Given the description of an element on the screen output the (x, y) to click on. 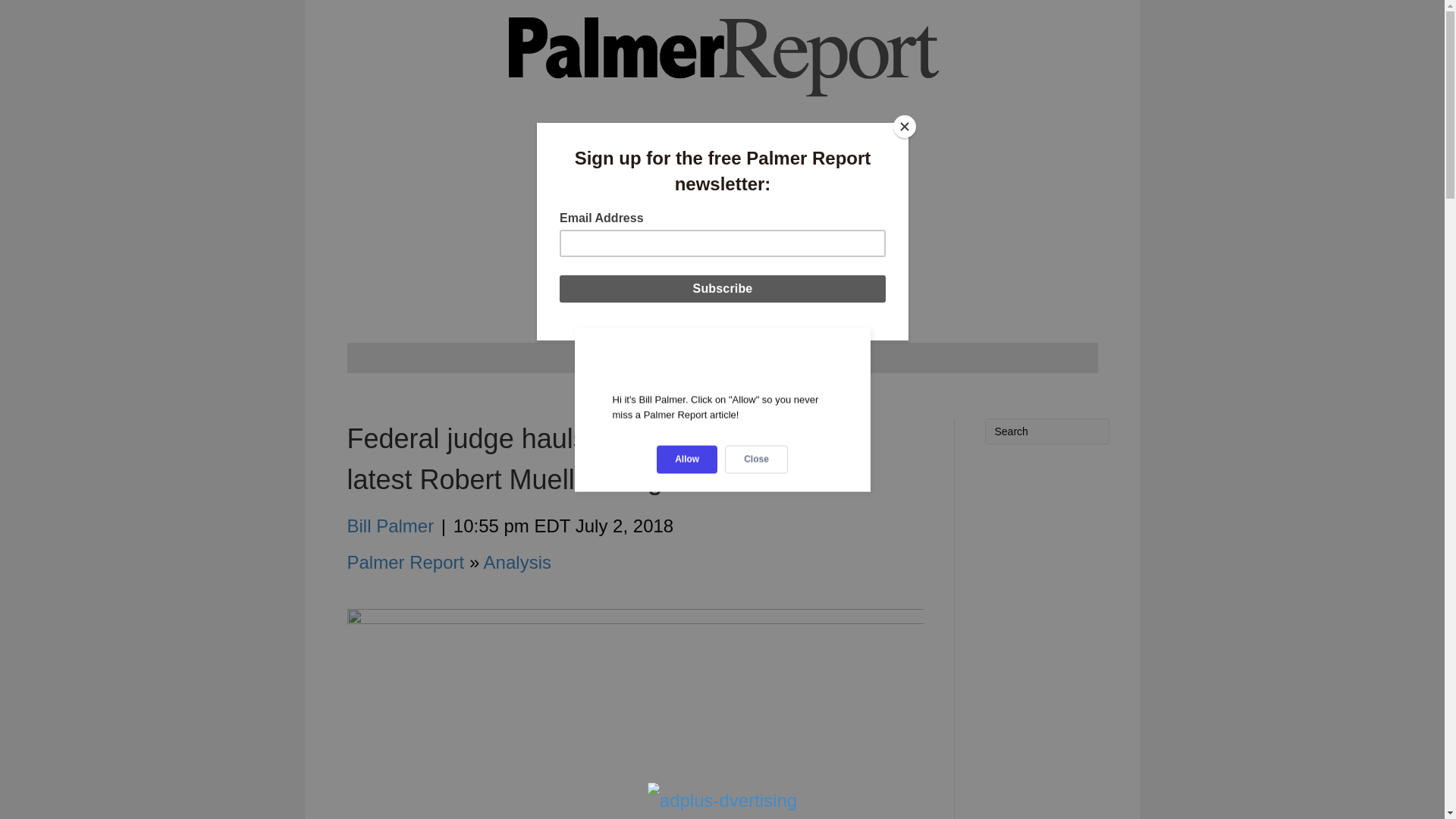
Type and press Enter to search. (1046, 431)
Search (1046, 431)
Analysis (517, 562)
Ad.Plus Advertising (721, 800)
Search (1046, 431)
Posts by Bill Palmer (390, 525)
Menu (722, 358)
Bill Palmer (390, 525)
Palmer Report (405, 562)
